Given the description of an element on the screen output the (x, y) to click on. 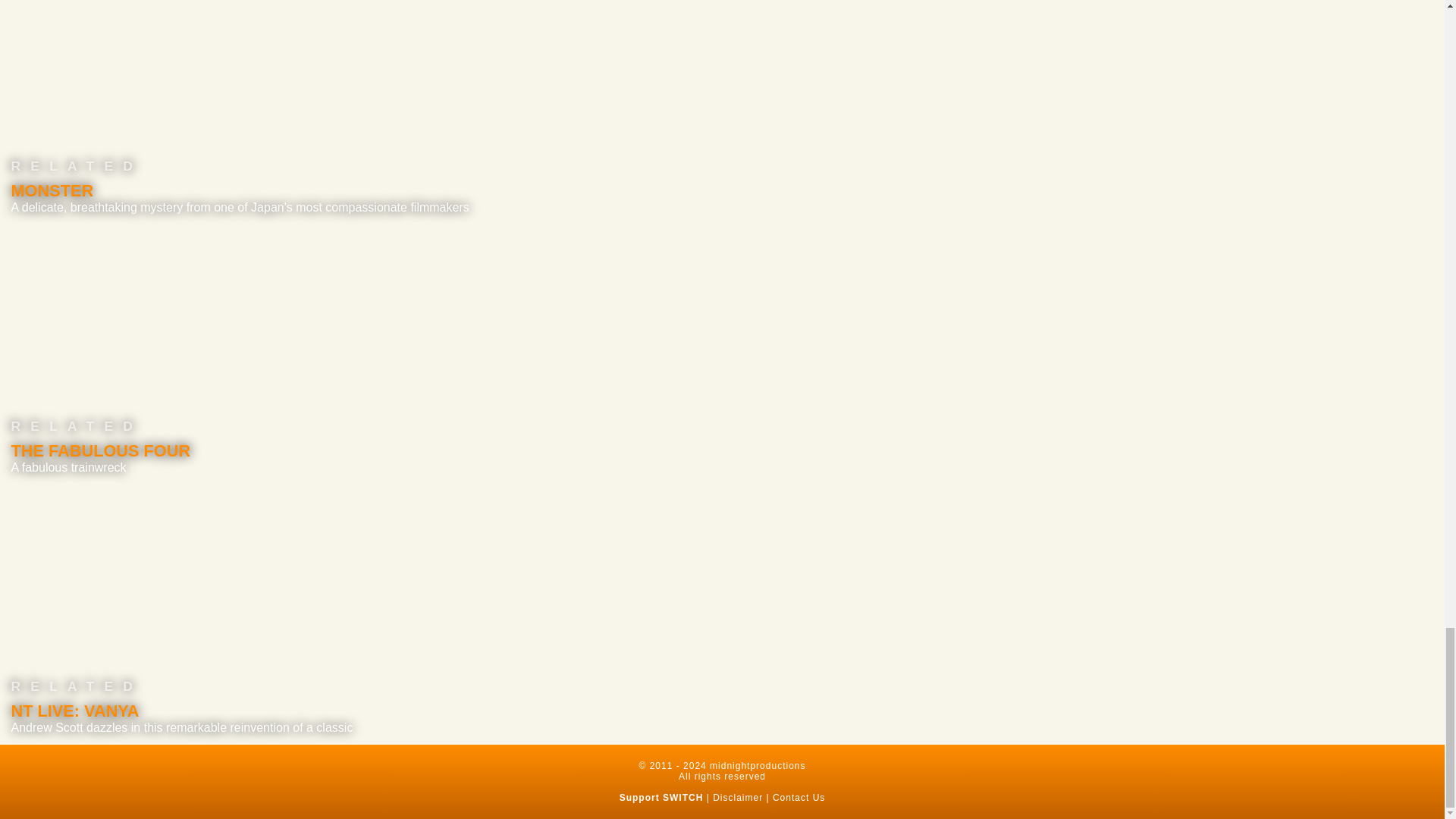
Disclaimer (737, 797)
midnightproductions (757, 765)
Contact Us (799, 797)
Support SWITCH (661, 797)
